Given the description of an element on the screen output the (x, y) to click on. 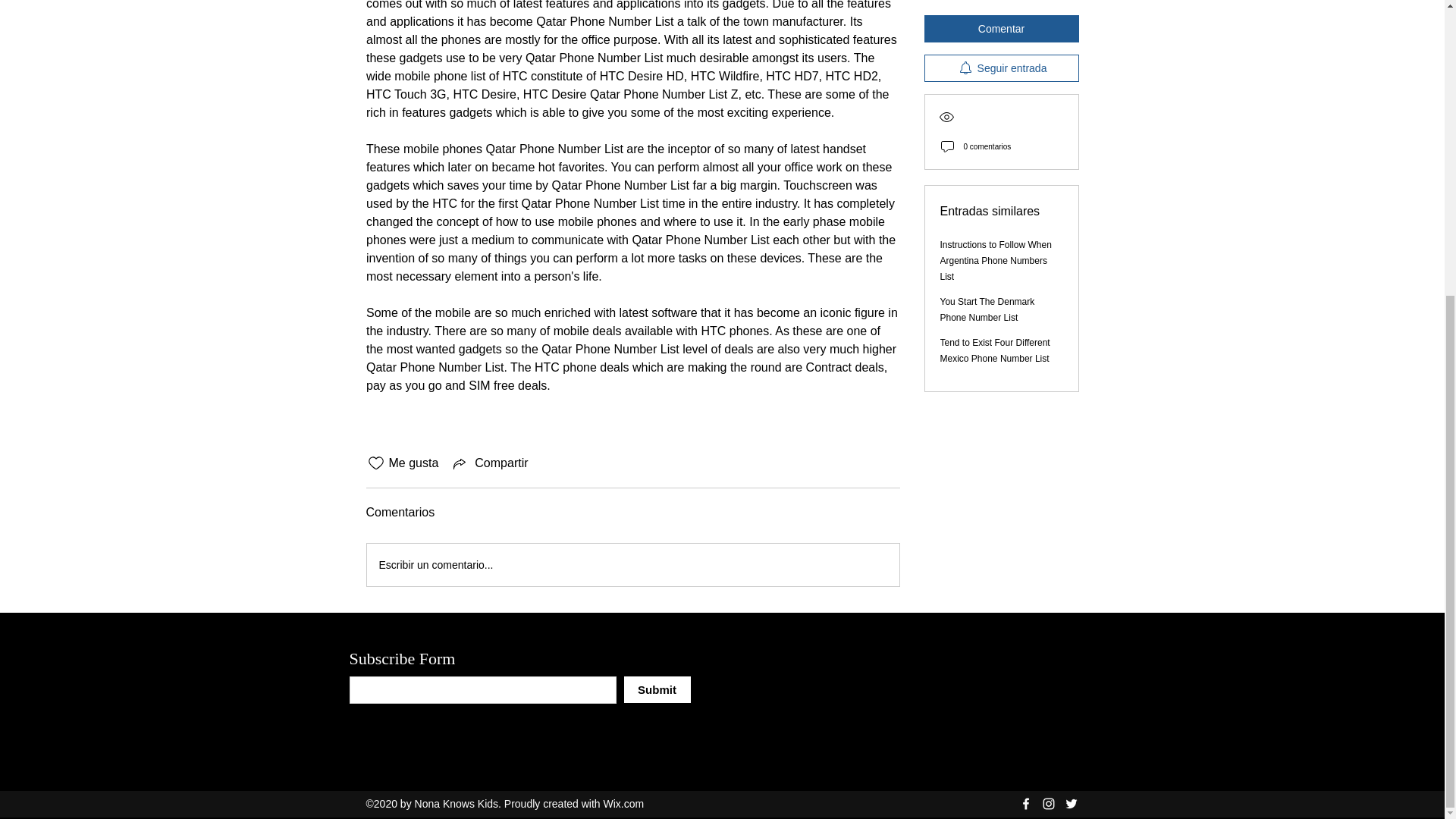
You Start The Denmark Phone Number List (987, 137)
Compartir (488, 463)
Submit (656, 689)
Tend to Exist Four Different Mexico Phone Number List (994, 178)
Escribir un comentario... (632, 564)
Instructions to Follow When Argentina Phone Numbers List (995, 88)
